Given the description of an element on the screen output the (x, y) to click on. 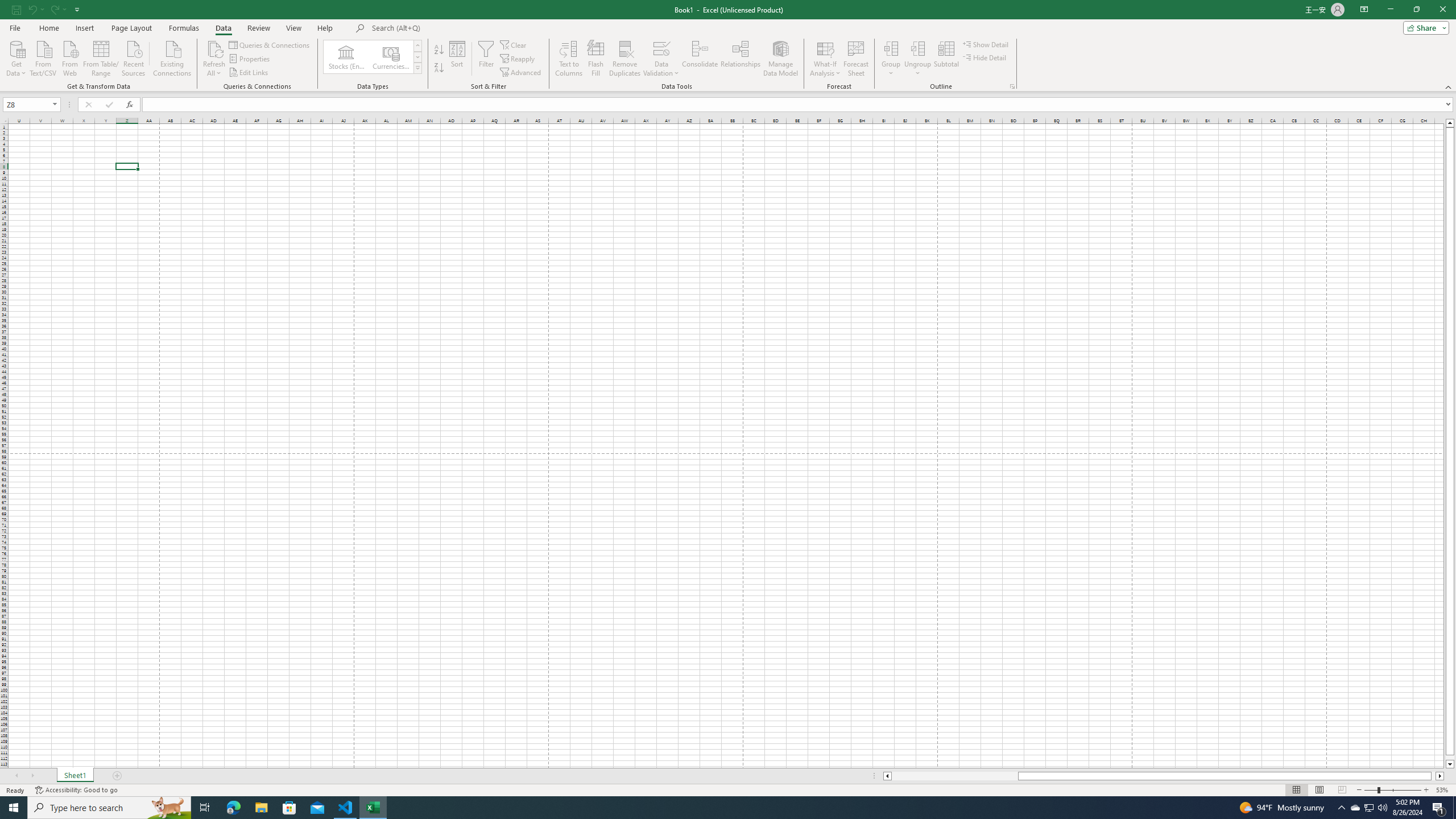
Advanced... (520, 72)
Group and Outline Settings (1011, 85)
Get Data (16, 57)
Sheet1 (74, 775)
Ungroup... (917, 58)
Row Down (417, 56)
Add Sheet (117, 775)
Reapply (517, 58)
Class: NetUIScrollBar (1163, 775)
Hide Detail (985, 56)
Remove Duplicates (625, 58)
View (293, 28)
Quick Access Toolbar (46, 9)
